Given the description of an element on the screen output the (x, y) to click on. 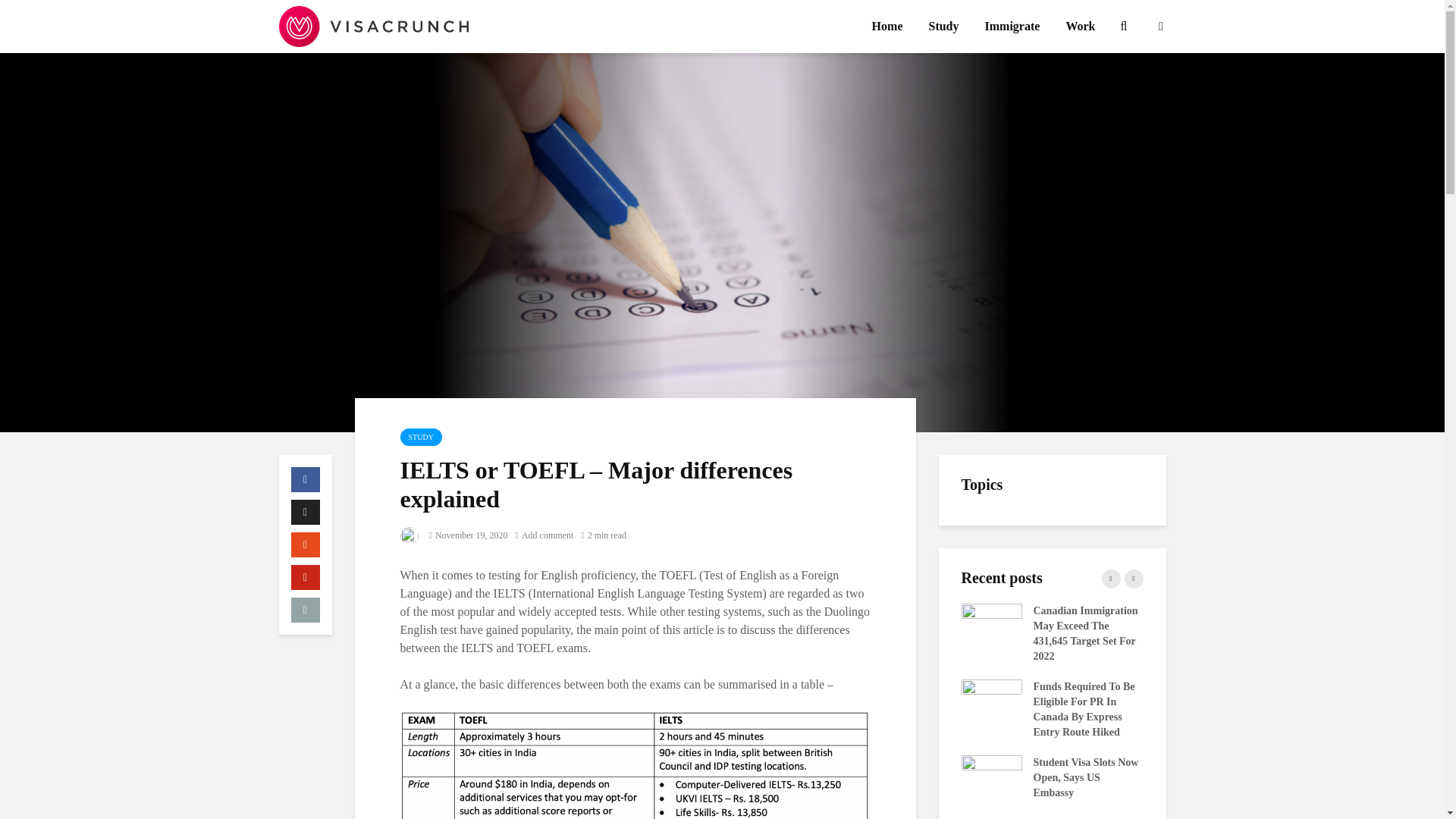
Add comment (544, 534)
Immigrate (1012, 26)
Scholarships For International Students In Western Australia (627, 776)
Scholarships For International Students In Western Australia (1173, 776)
STUDY (421, 436)
Study (943, 26)
